Given the description of an element on the screen output the (x, y) to click on. 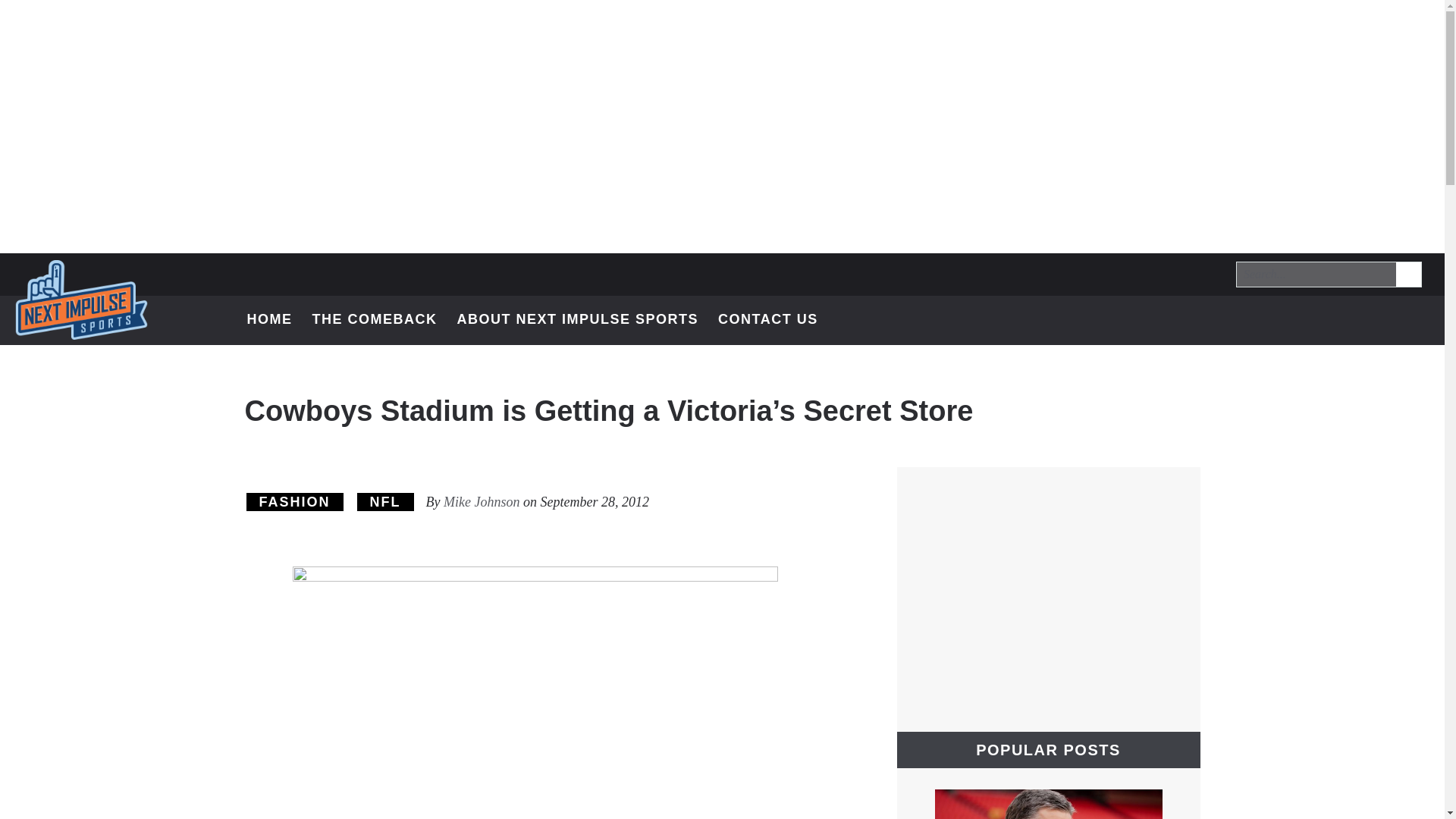
View all posts in Fashion (1336, 319)
FASHION (294, 502)
SEARCH (294, 502)
THE COMEBACK (1407, 273)
Link to RSS (374, 319)
NFL (1414, 319)
CONTACT US (384, 502)
ABOUT NEXT IMPULSE SPORTS (775, 319)
View all posts in NFL (576, 319)
HOME (384, 502)
Link to Twitter (1414, 319)
Link to Facebook (1409, 273)
